Given the description of an element on the screen output the (x, y) to click on. 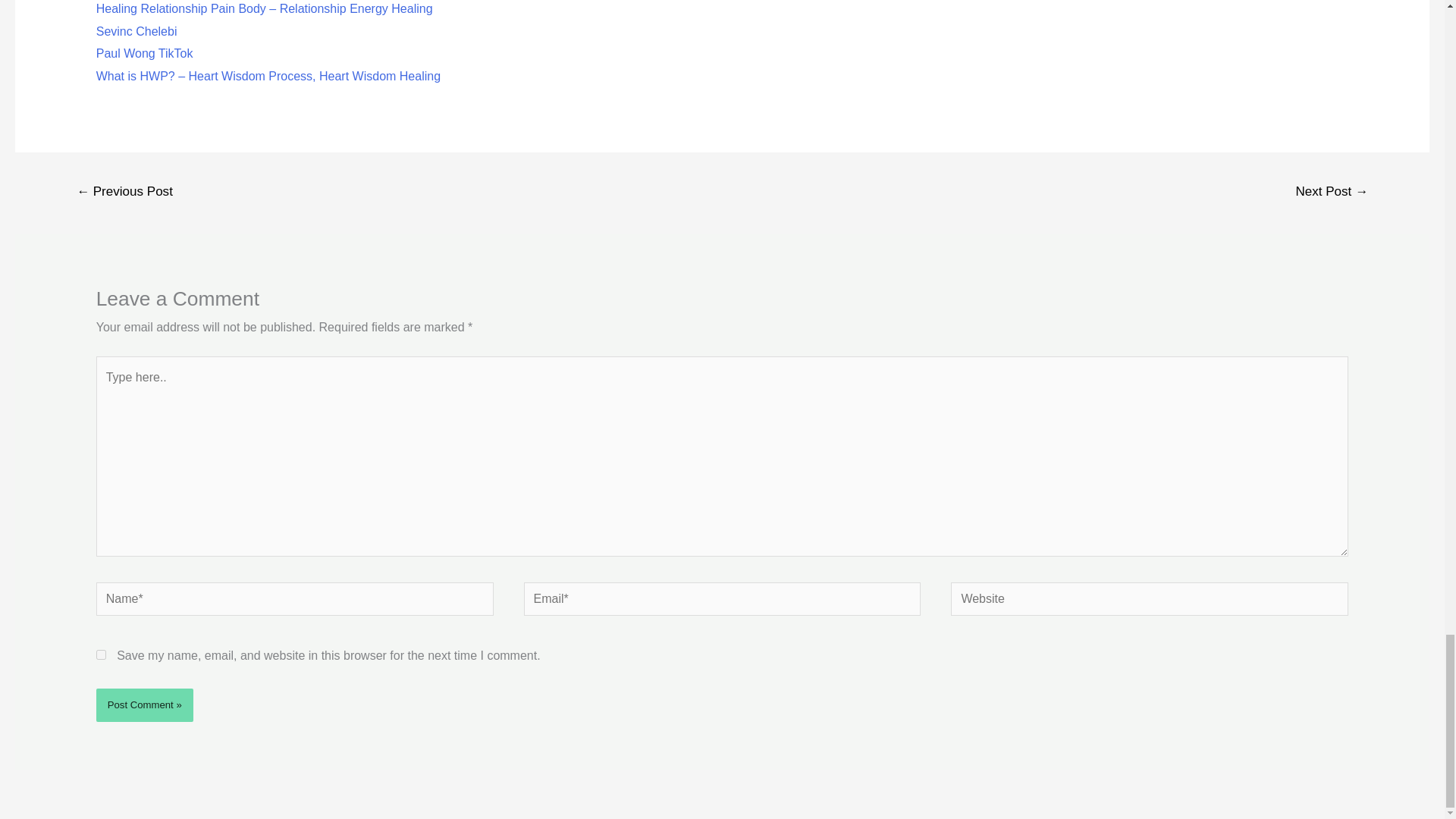
Sevinc Chelebi (136, 30)
yes (101, 655)
Paul Wong TikTok (144, 52)
